Given the description of an element on the screen output the (x, y) to click on. 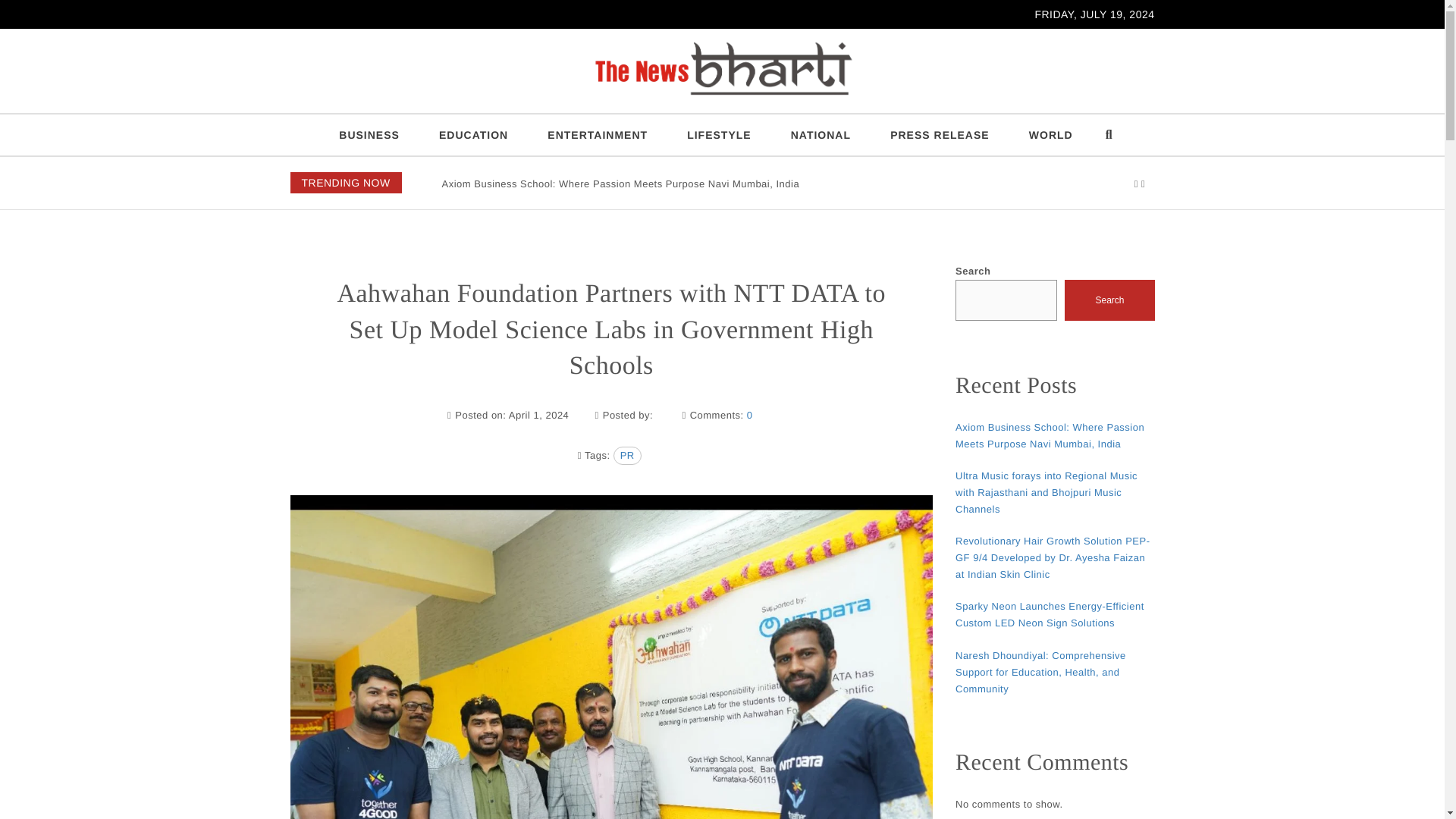
NATIONAL (821, 134)
0 (749, 415)
Search (1109, 300)
LIFESTYLE (718, 134)
WORLD (1050, 134)
BUSINESS (368, 134)
The News Bharti (328, 108)
EDUCATION (472, 134)
PR (627, 455)
